Given the description of an element on the screen output the (x, y) to click on. 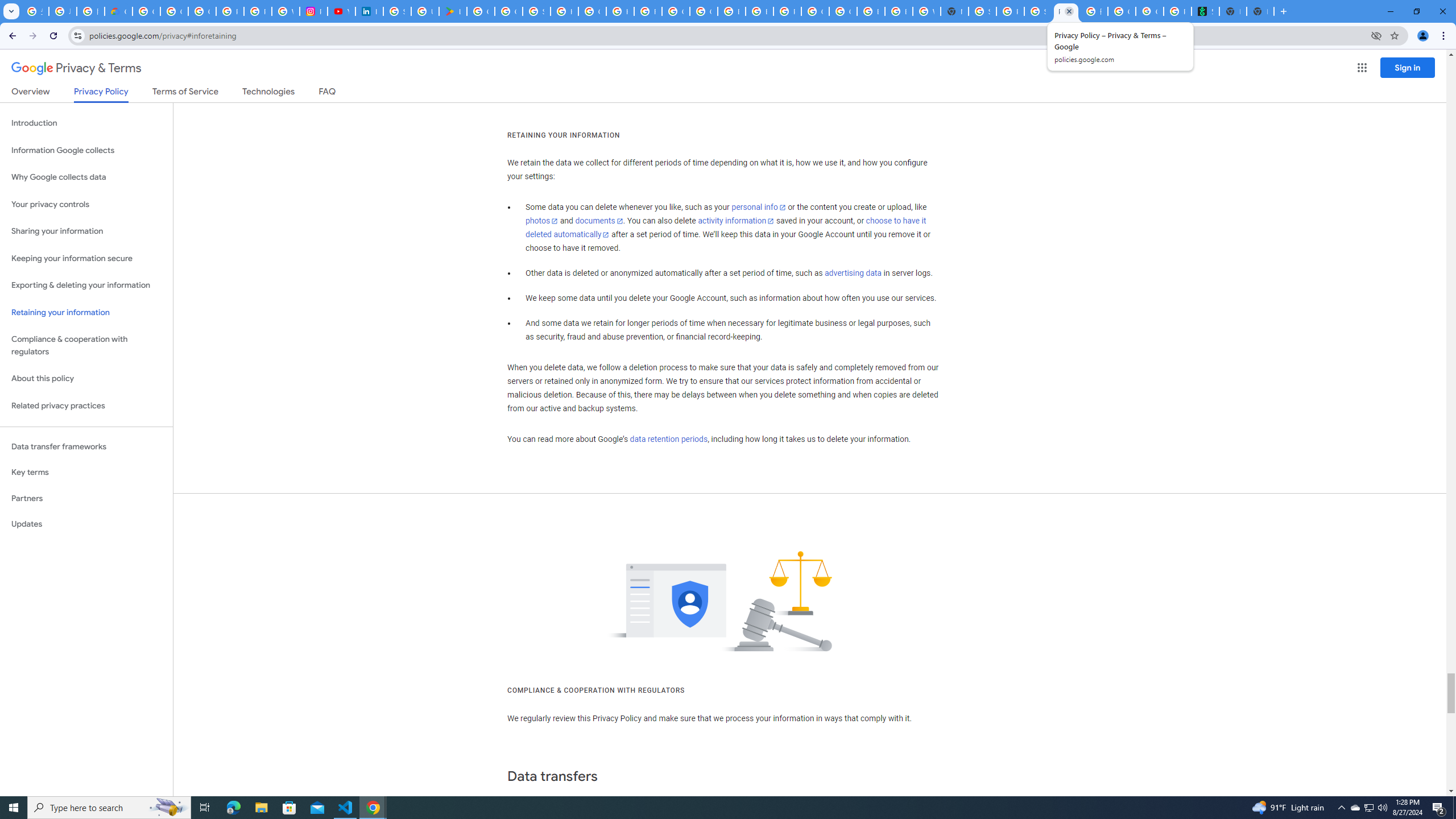
Why Google collects data (86, 176)
Related privacy practices (86, 405)
Google Workspace - Specific Terms (508, 11)
Privacy Help Center - Policies Help (257, 11)
How do I create a new Google Account? - Google Account Help (620, 11)
FAQ (327, 93)
Terms of Service (184, 93)
Sign in - Google Accounts (982, 11)
Third-party cookies blocked (1376, 35)
Browse Chrome as a guest - Computer - Google Chrome Help (759, 11)
